Given the description of an element on the screen output the (x, y) to click on. 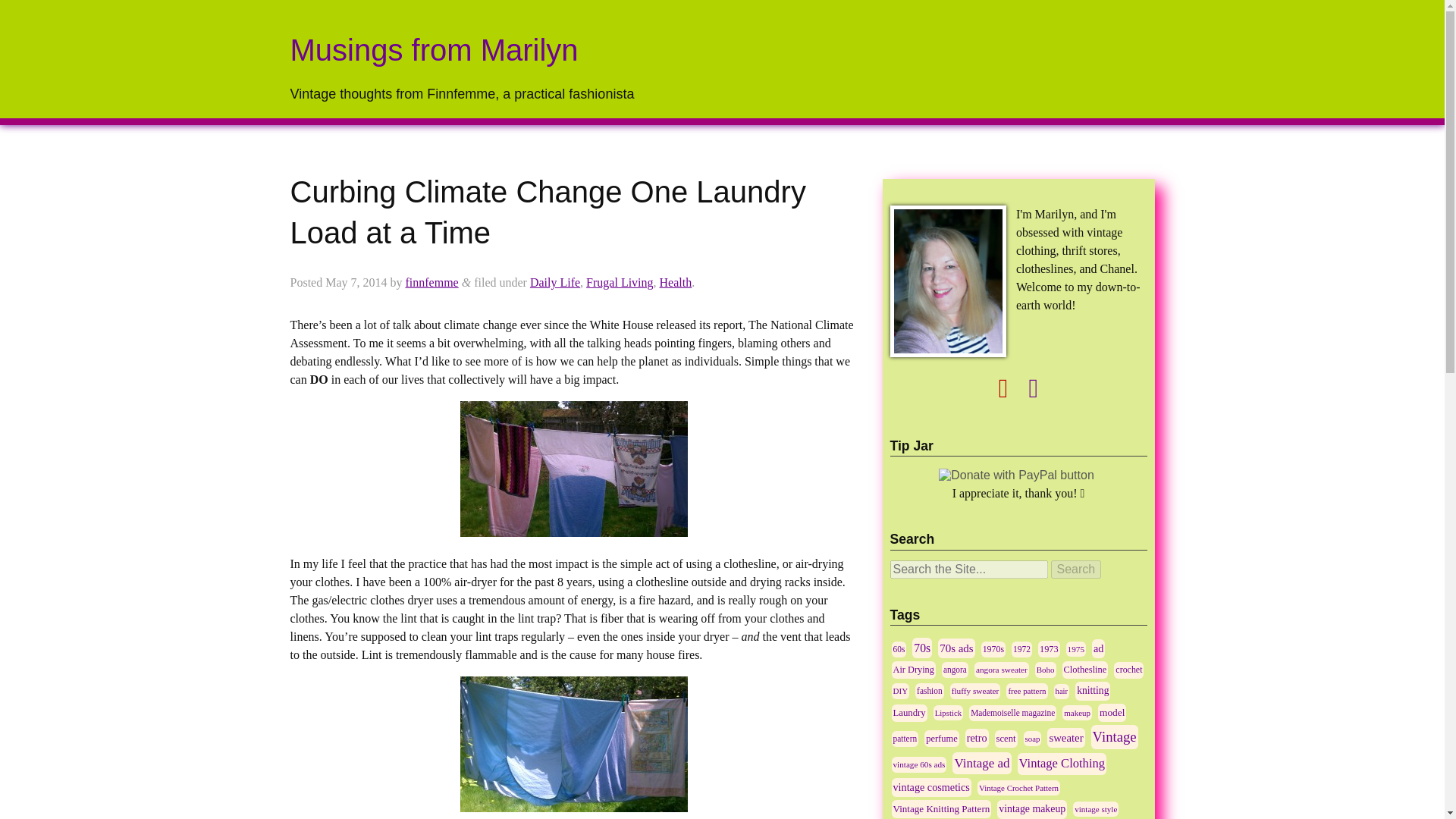
Posts by finnfemme (431, 282)
Search (1076, 569)
1972 (1021, 649)
Search (1076, 569)
Health (676, 282)
1970s (993, 649)
70s ads (955, 648)
Frugal Living (619, 282)
Air Drying (913, 669)
Clothesline (1085, 669)
Daily Life (554, 282)
finnfemme (431, 282)
PayPal - The safer, easier way to pay online! (1016, 475)
angora sweater (1001, 669)
angora (955, 669)
